Given the description of an element on the screen output the (x, y) to click on. 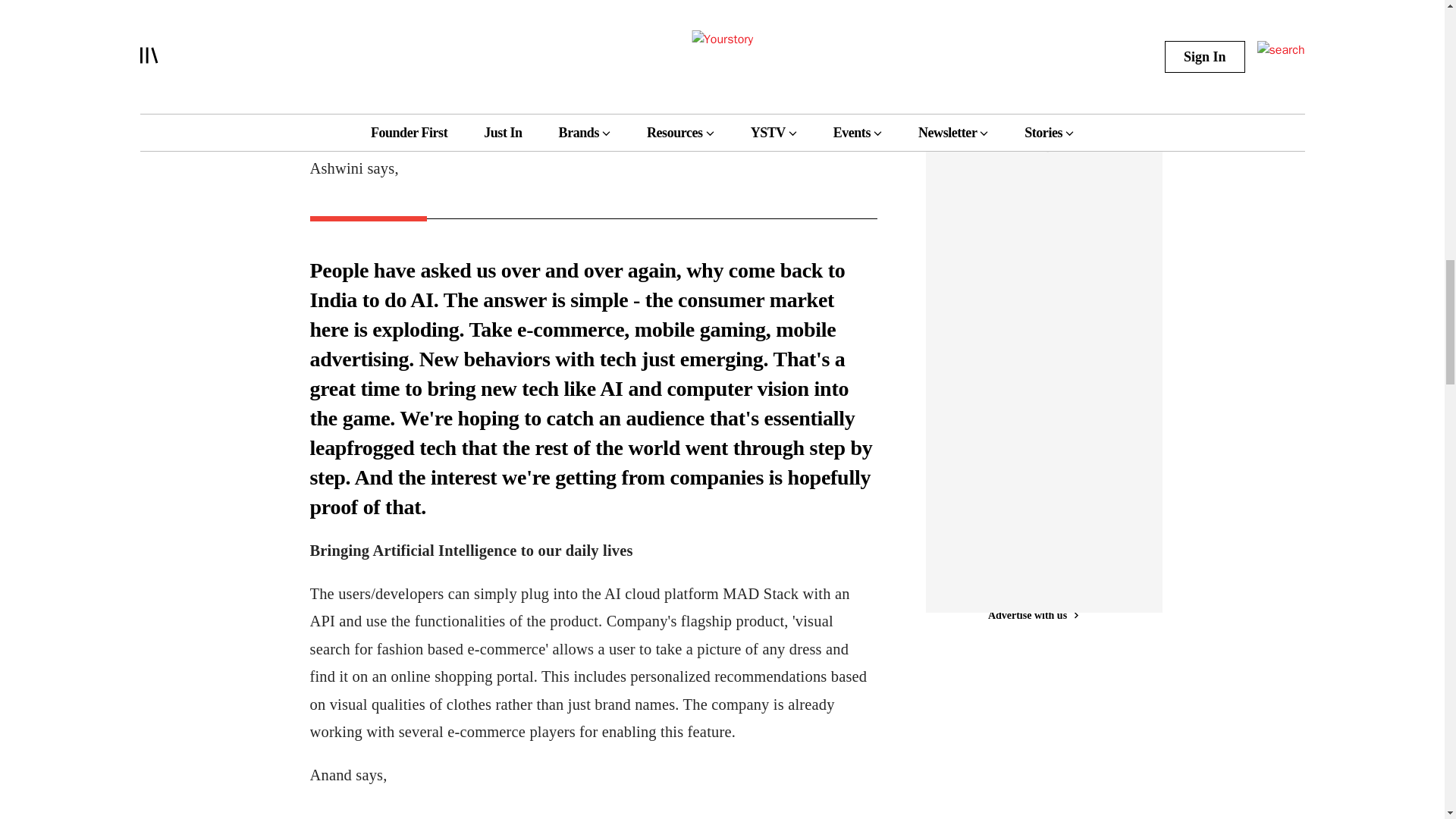
AI GEN (973, 16)
